Given the description of an element on the screen output the (x, y) to click on. 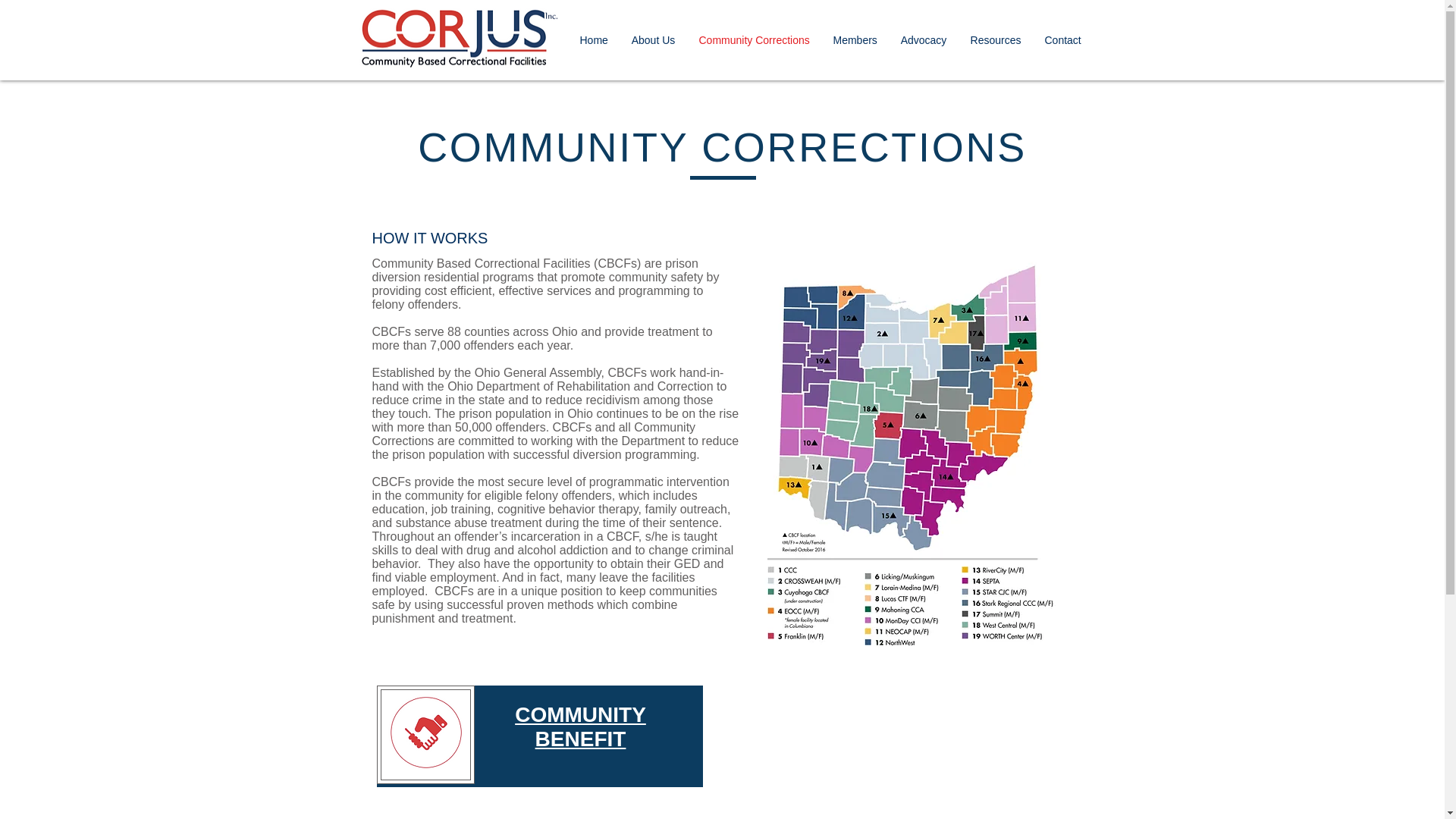
Resources (995, 39)
Contact (1062, 39)
Screen Shot 2016-09-09 at 1.47.37 PM.png (424, 733)
Advocacy (923, 39)
Home (594, 39)
Members (855, 39)
About Us (653, 39)
Screen Shot 2016-09-09 at 1.47.37 PM.png (424, 734)
COMMUNITY BENEFIT (580, 726)
Community Corrections (754, 39)
